Given the description of an element on the screen output the (x, y) to click on. 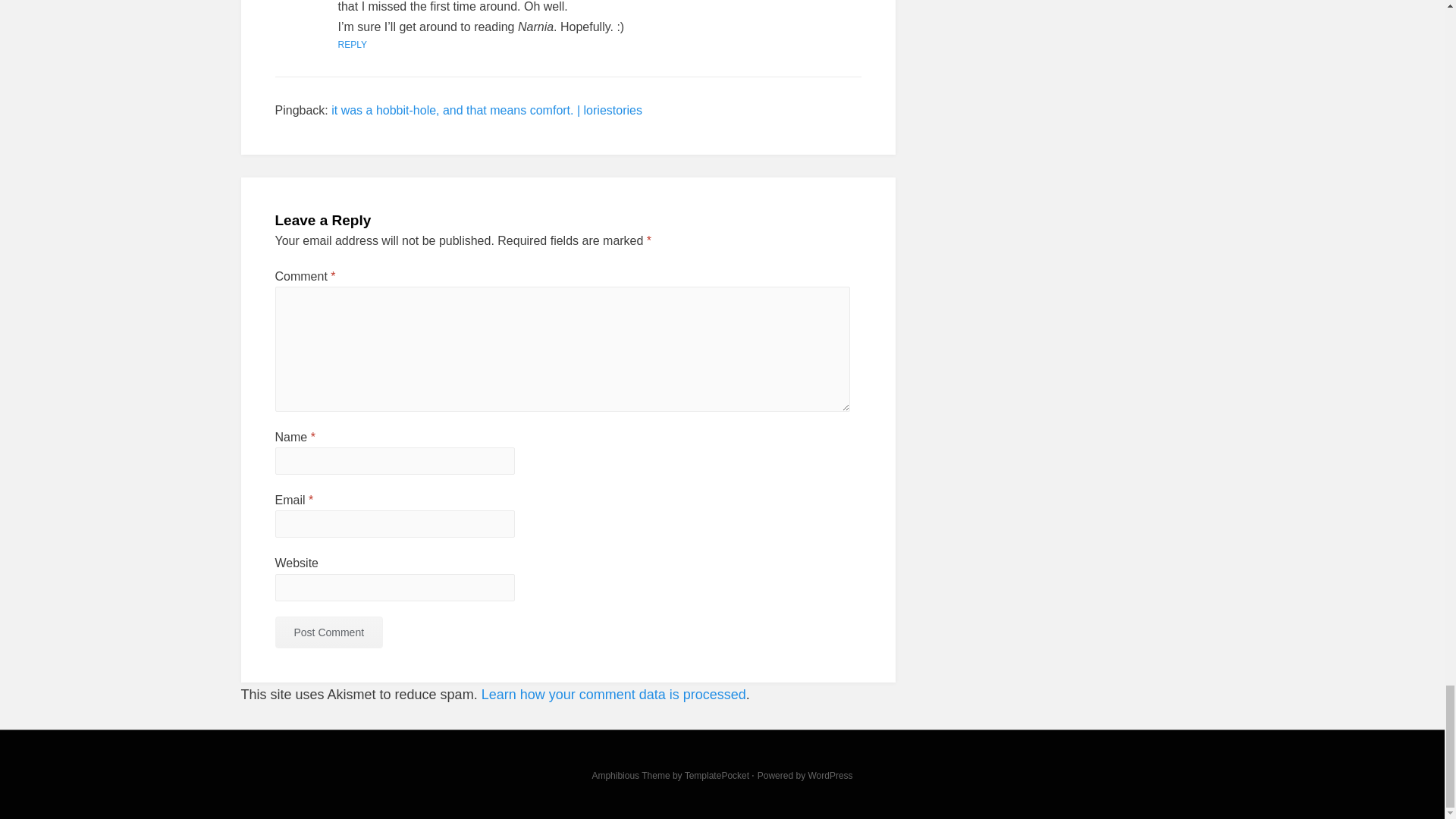
WordPress (829, 775)
TemplatePocket (716, 775)
Post Comment (328, 632)
